Given the description of an element on the screen output the (x, y) to click on. 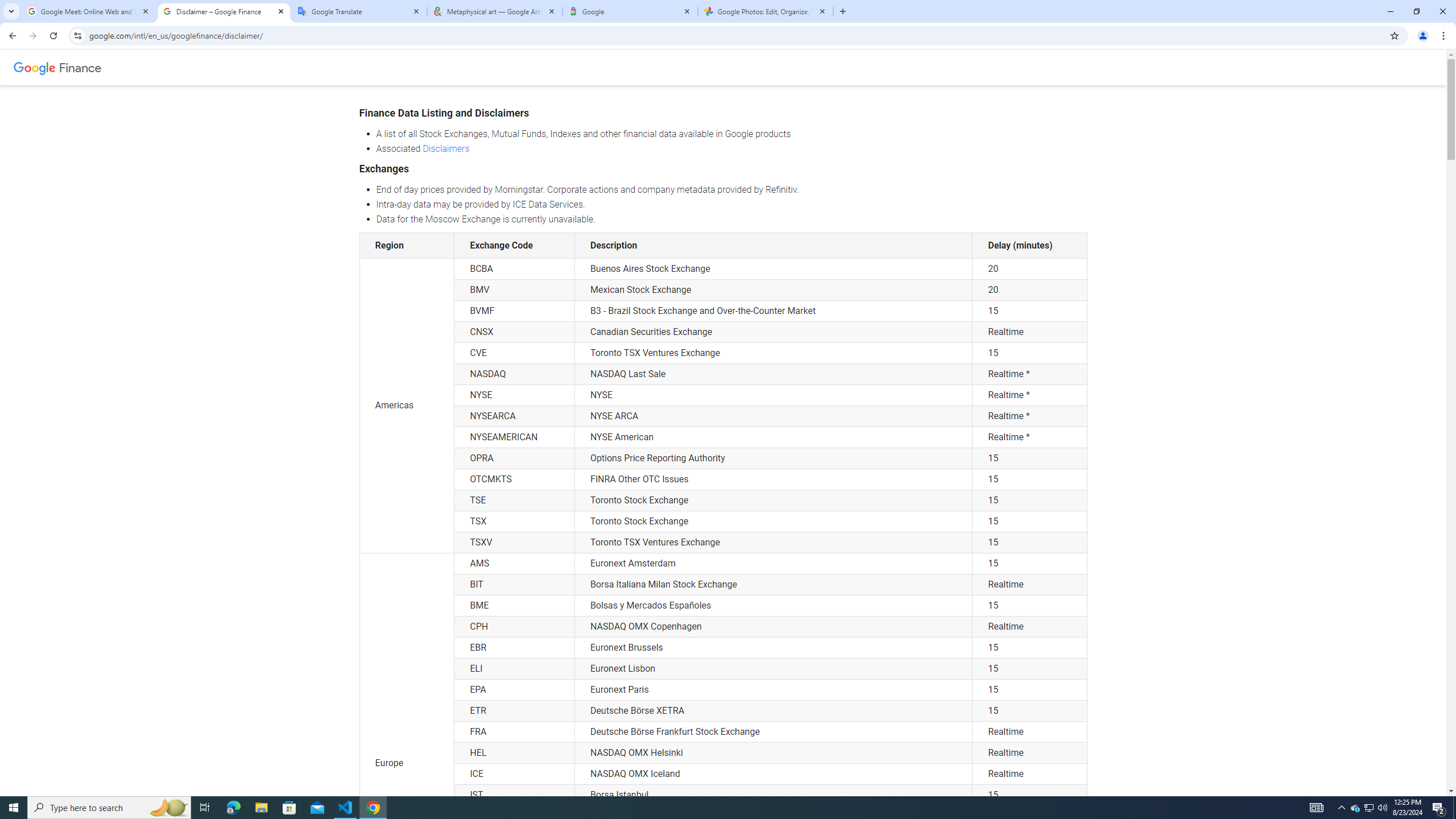
Euronext Amsterdam (773, 563)
NASDAQ OMX Copenhagen (773, 626)
TSX (514, 521)
Options Price Reporting Authority (773, 458)
ETR (514, 710)
NASDAQ Last Sale (773, 373)
Buenos Aires Stock Exchange (773, 268)
Borsa Istanbul (773, 794)
Euronext Paris (773, 689)
